Given the description of an element on the screen output the (x, y) to click on. 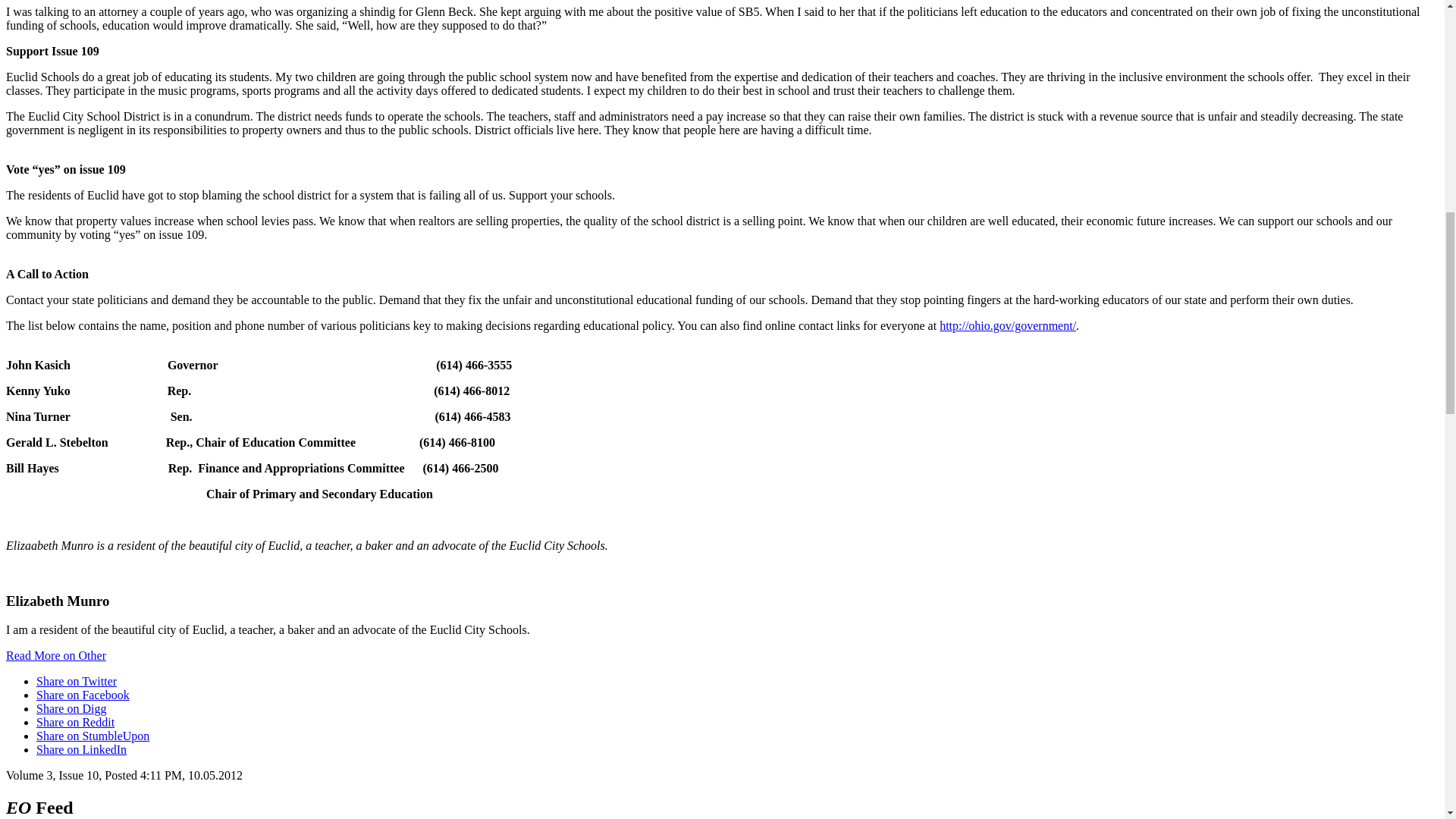
Share on StumbleUpon (92, 735)
Share on Reddit (75, 721)
Share on Twitter (76, 680)
Share on Twitter (76, 680)
Share on Facebook (82, 694)
Share on StumbleUpon (92, 735)
Share on Facebook (82, 694)
Share on Digg (71, 707)
Share on Reddit (75, 721)
Share on Digg (71, 707)
Share on LinkedIn (81, 748)
Share on LinkedIn (81, 748)
Read More on Other (55, 655)
